Given the description of an element on the screen output the (x, y) to click on. 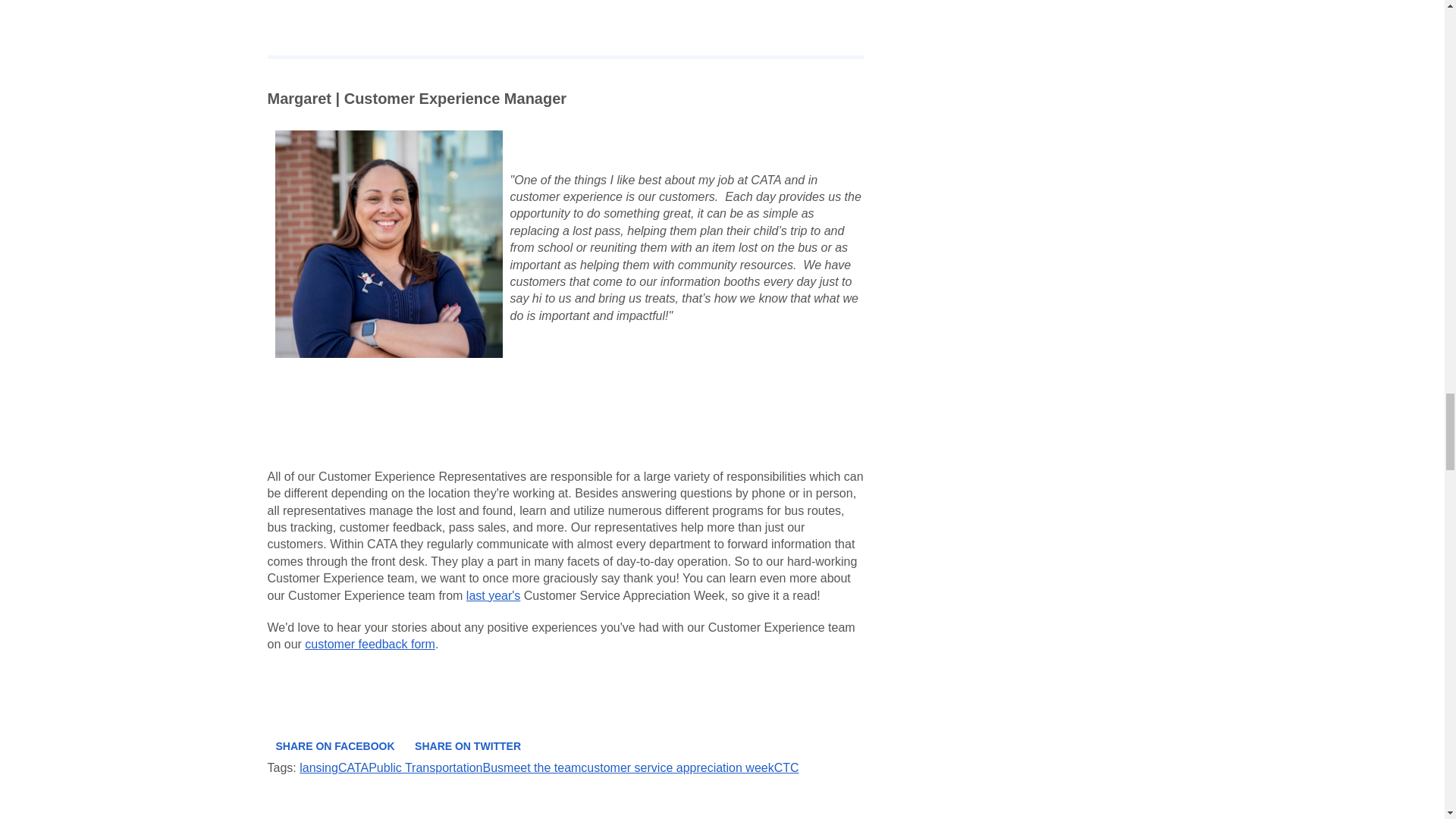
customer service appreciation week (676, 767)
meet the team (541, 767)
CATA (352, 767)
SHARE ON TWITTER (467, 746)
Public Transportation (424, 767)
last year's (493, 594)
CTC (786, 767)
lansing (318, 767)
customer feedback form (369, 644)
Bus (492, 767)
SHARE ON FACEBOOK (334, 746)
